Given the description of an element on the screen output the (x, y) to click on. 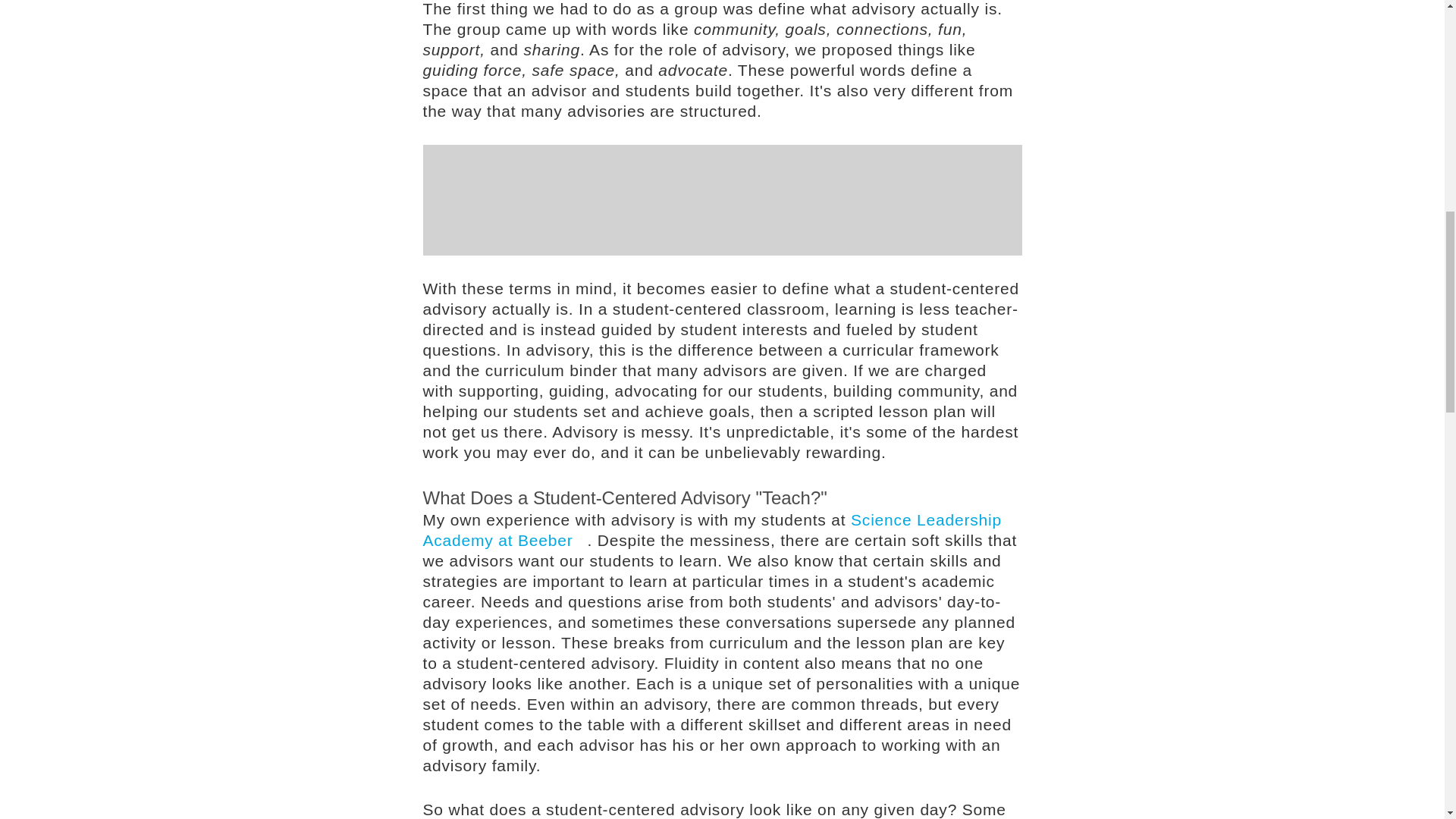
Science Leadership Academy at Beeber (712, 529)
